Given the description of an element on the screen output the (x, y) to click on. 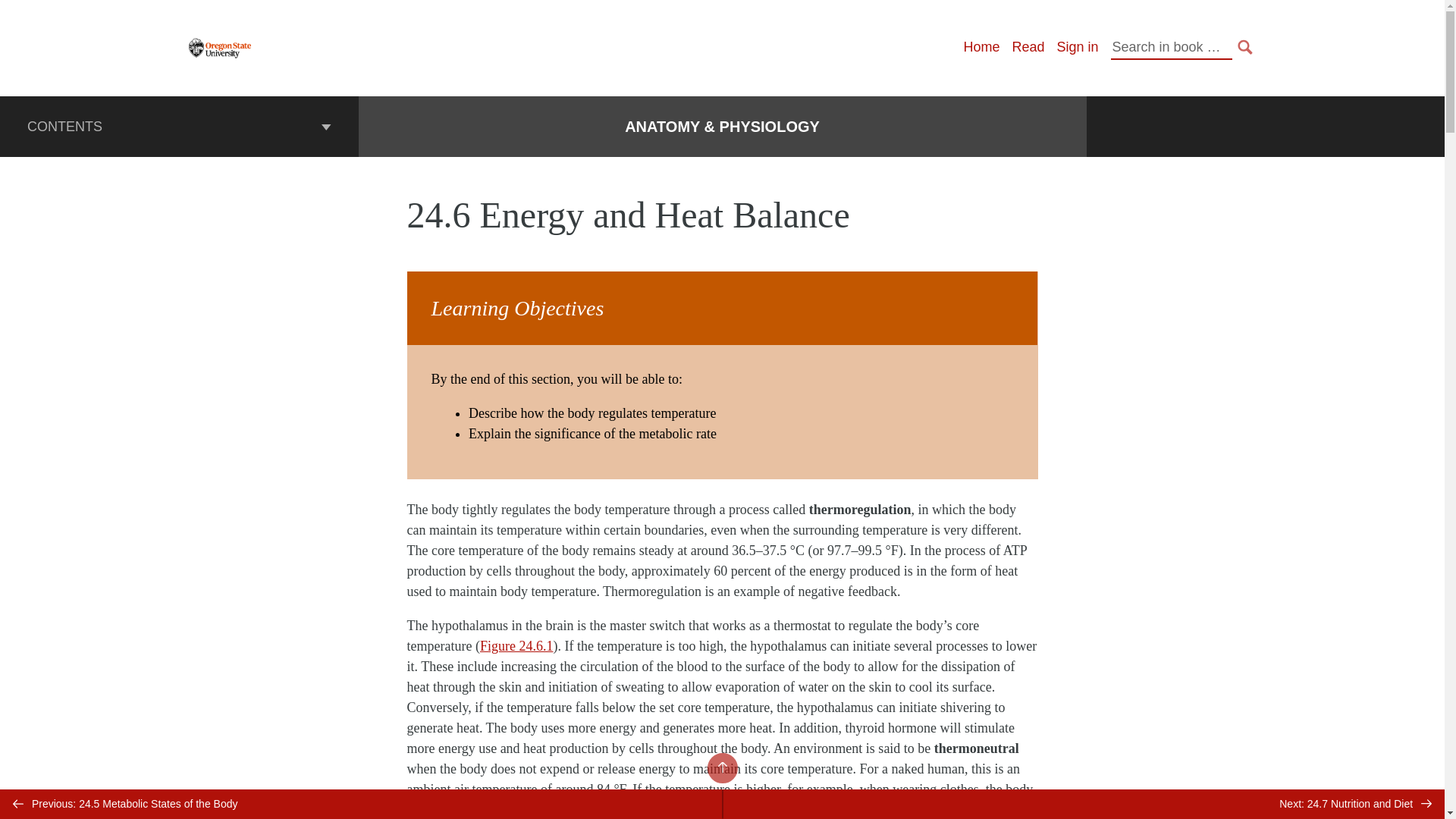
Previous: 24.5 Metabolic States of the Body (361, 804)
Home (980, 46)
Previous: 24.5 Metabolic States of the Body (361, 804)
Sign in (1077, 46)
CONTENTS (178, 126)
Read (1027, 46)
BACK TO TOP (721, 767)
Figure 24.6.1 (516, 645)
